Given the description of an element on the screen output the (x, y) to click on. 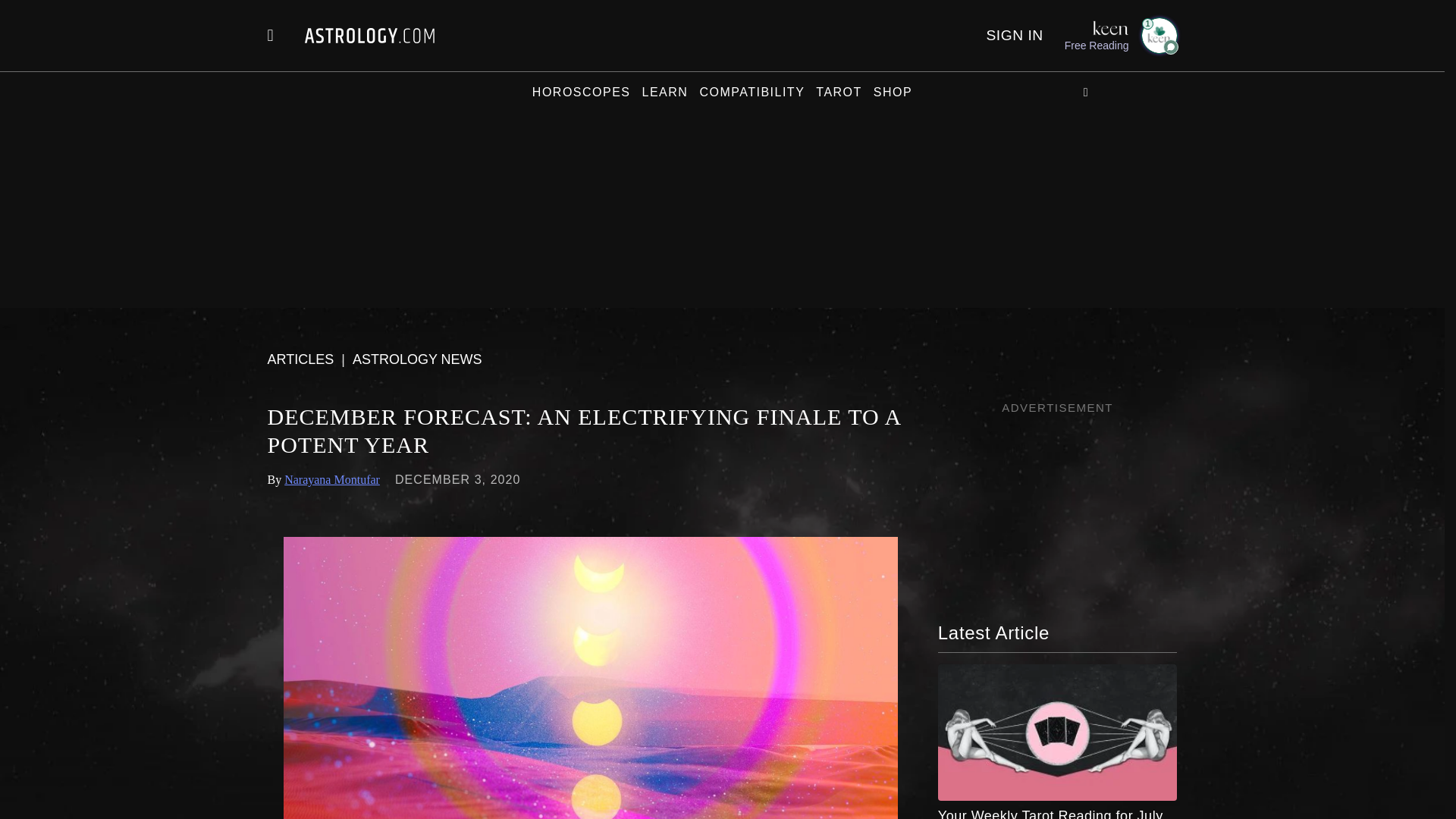
1 (1158, 35)
SIGN IN (1013, 35)
